Given the description of an element on the screen output the (x, y) to click on. 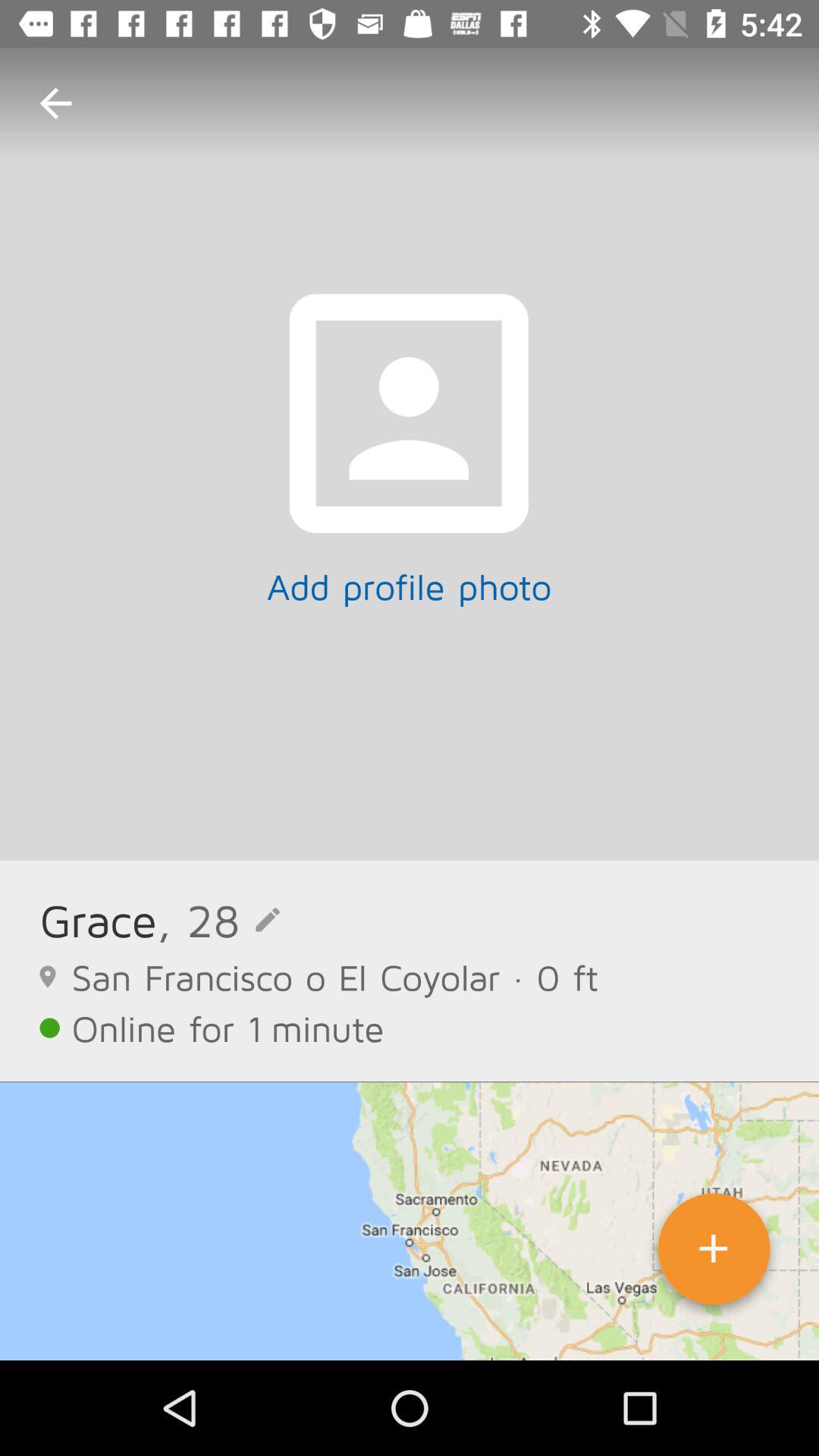
swipe to grace icon (97, 919)
